Given the description of an element on the screen output the (x, y) to click on. 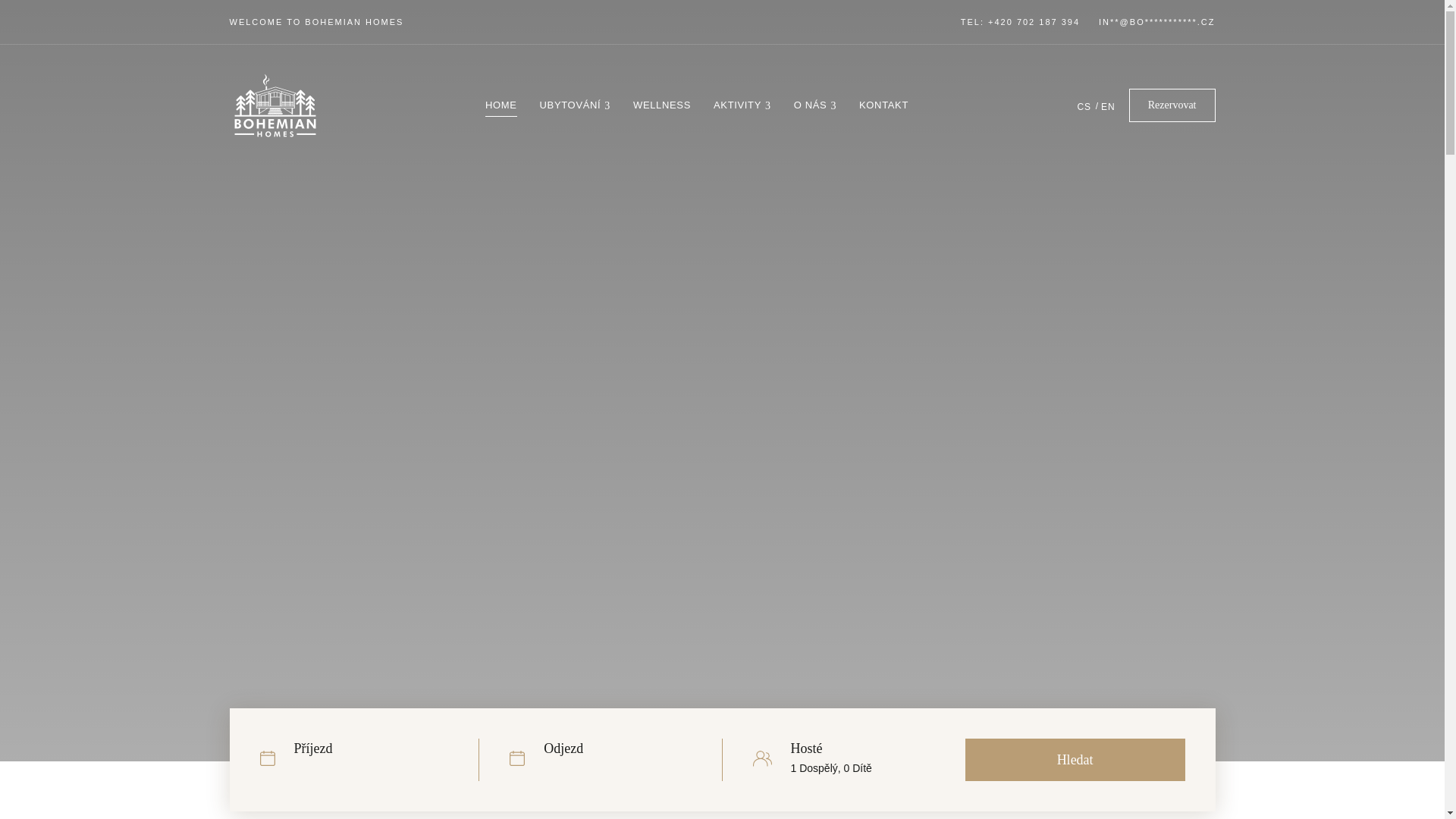
EN (1110, 106)
KONTAKT (883, 104)
Rezervovat (1172, 105)
WELLNESS (661, 104)
HOME (501, 104)
CS (1083, 106)
AKTIVITY (742, 104)
